Given the description of an element on the screen output the (x, y) to click on. 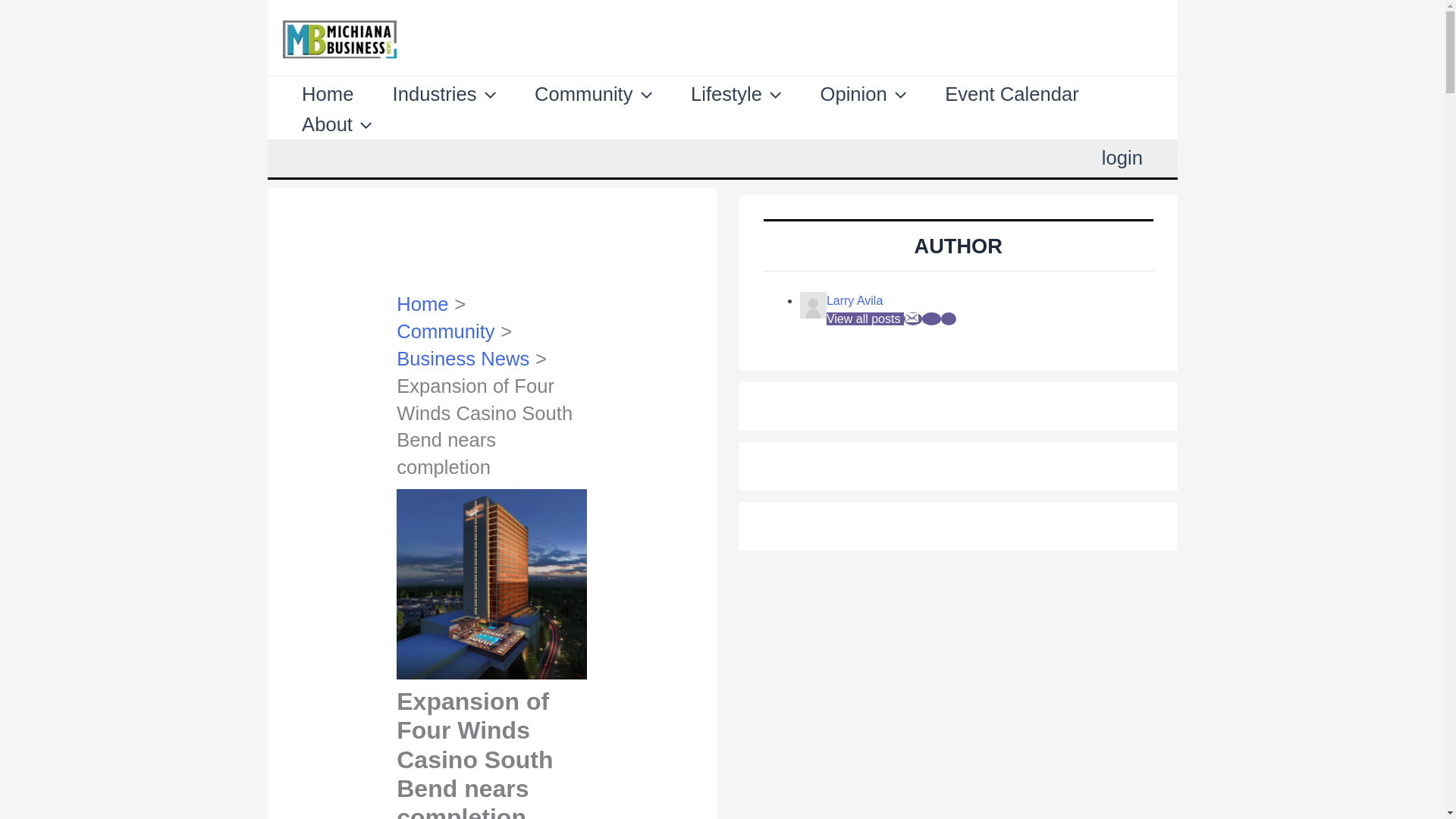
Community (593, 93)
View all posts (865, 318)
Industries (443, 93)
Larry Avila (854, 300)
Home (327, 93)
